Given the description of an element on the screen output the (x, y) to click on. 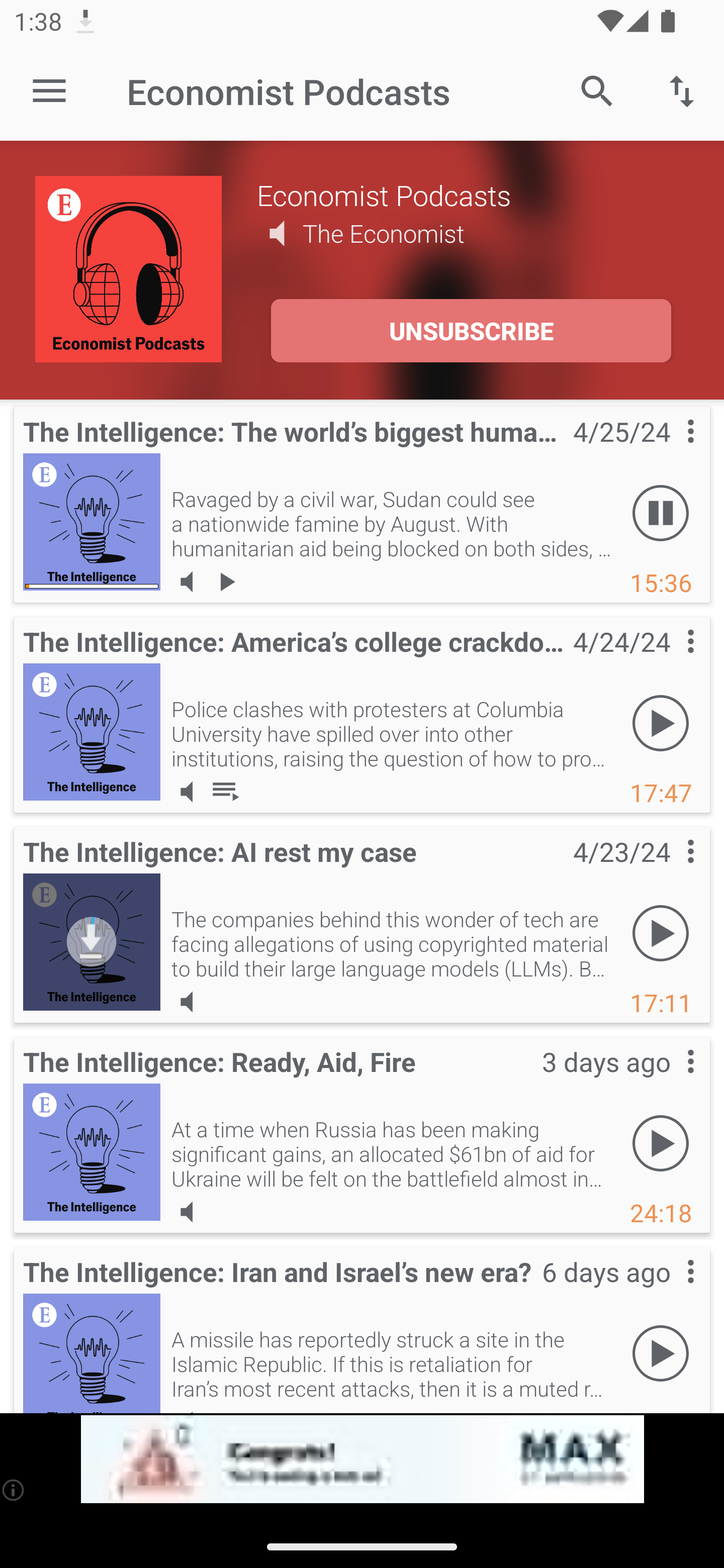
Open navigation sidebar (49, 91)
Search (597, 90)
Sort (681, 90)
UNSUBSCRIBE (470, 330)
Contextual menu (668, 451)
Pause (660, 513)
Contextual menu (668, 661)
Play (660, 723)
Contextual menu (668, 870)
Play (660, 933)
Contextual menu (668, 1080)
Play (660, 1143)
Contextual menu (668, 1290)
Play (660, 1353)
app-monetization (362, 1459)
(i) (14, 1489)
